Given the description of an element on the screen output the (x, y) to click on. 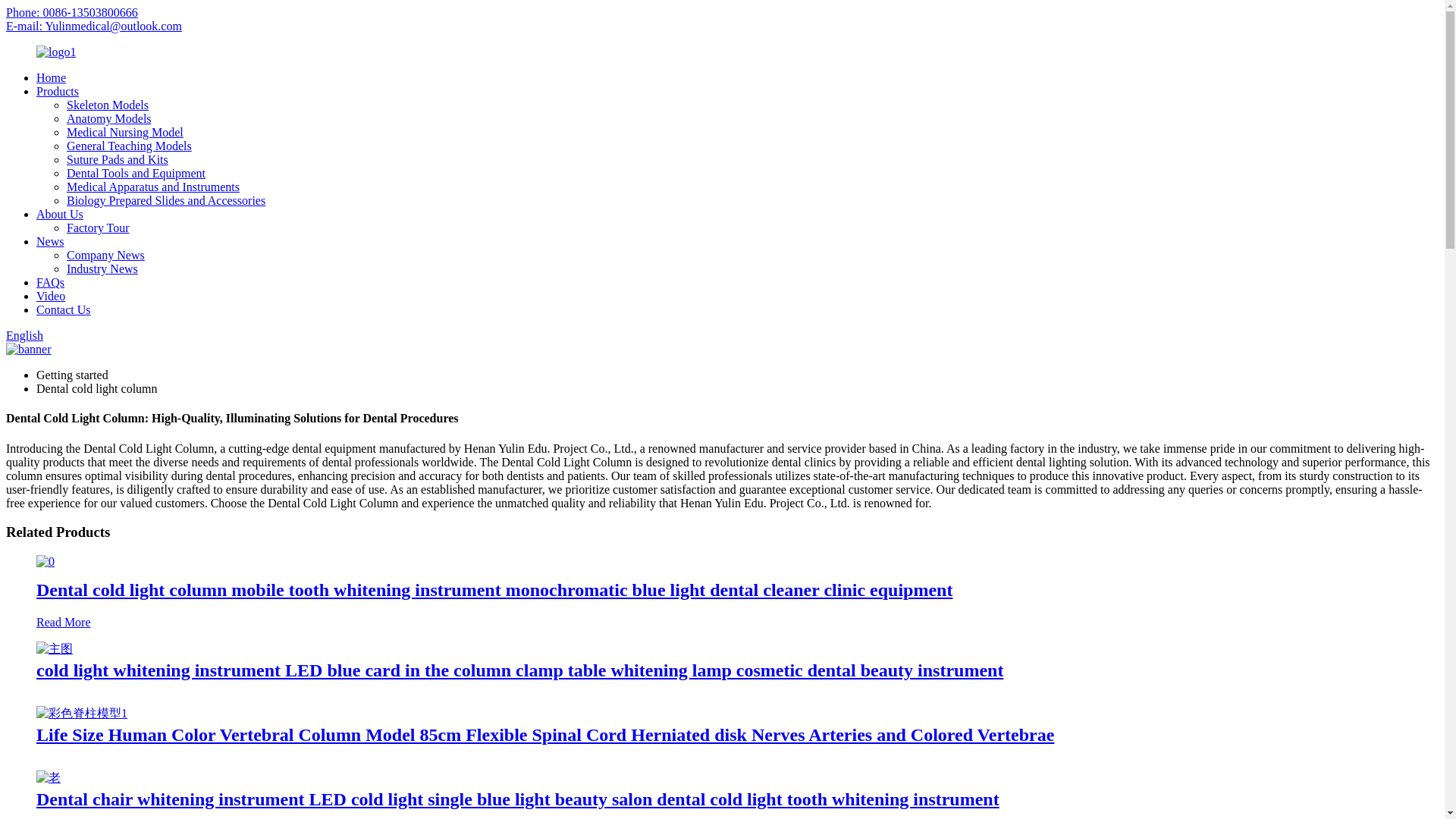
FAQs (50, 282)
Medical Apparatus and Instruments (153, 186)
Home (50, 77)
Factory Tour (97, 227)
Skeleton Models (107, 104)
Video (50, 295)
Medical Nursing Model (124, 132)
About Us (59, 214)
Phone: 0086-13503800666 (71, 11)
Suture Pads and Kits (117, 159)
Dental cold light column (96, 388)
English (24, 335)
